Given the description of an element on the screen output the (x, y) to click on. 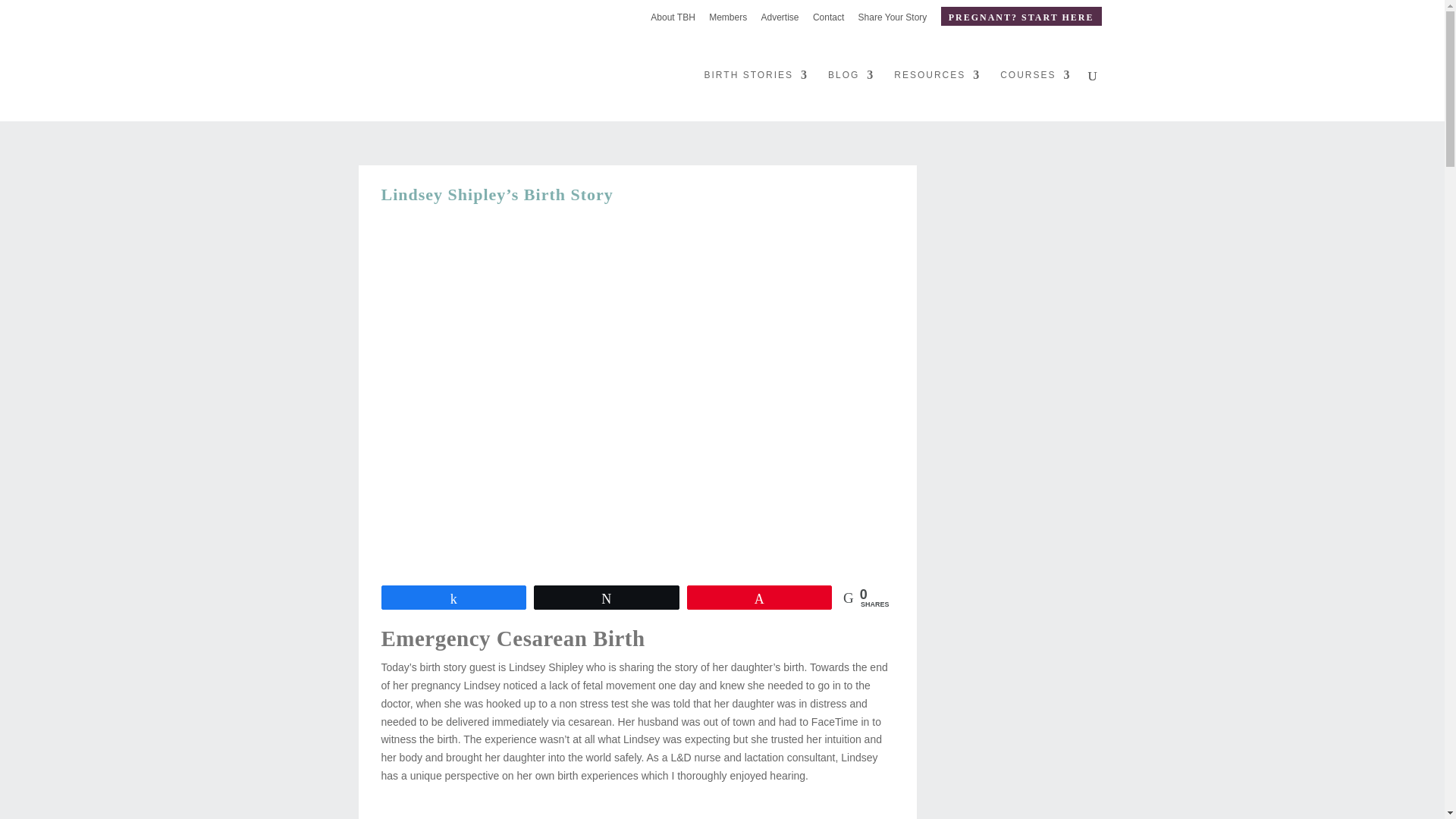
PREGNANT? START HERE (1021, 15)
Share Your Story (893, 20)
COURSES (1035, 95)
BIRTH STORIES (756, 95)
Contact (828, 20)
BLOG (851, 95)
Members (727, 20)
About TBH (672, 20)
RESOURCES (936, 95)
Advertise (780, 20)
